Given the description of an element on the screen output the (x, y) to click on. 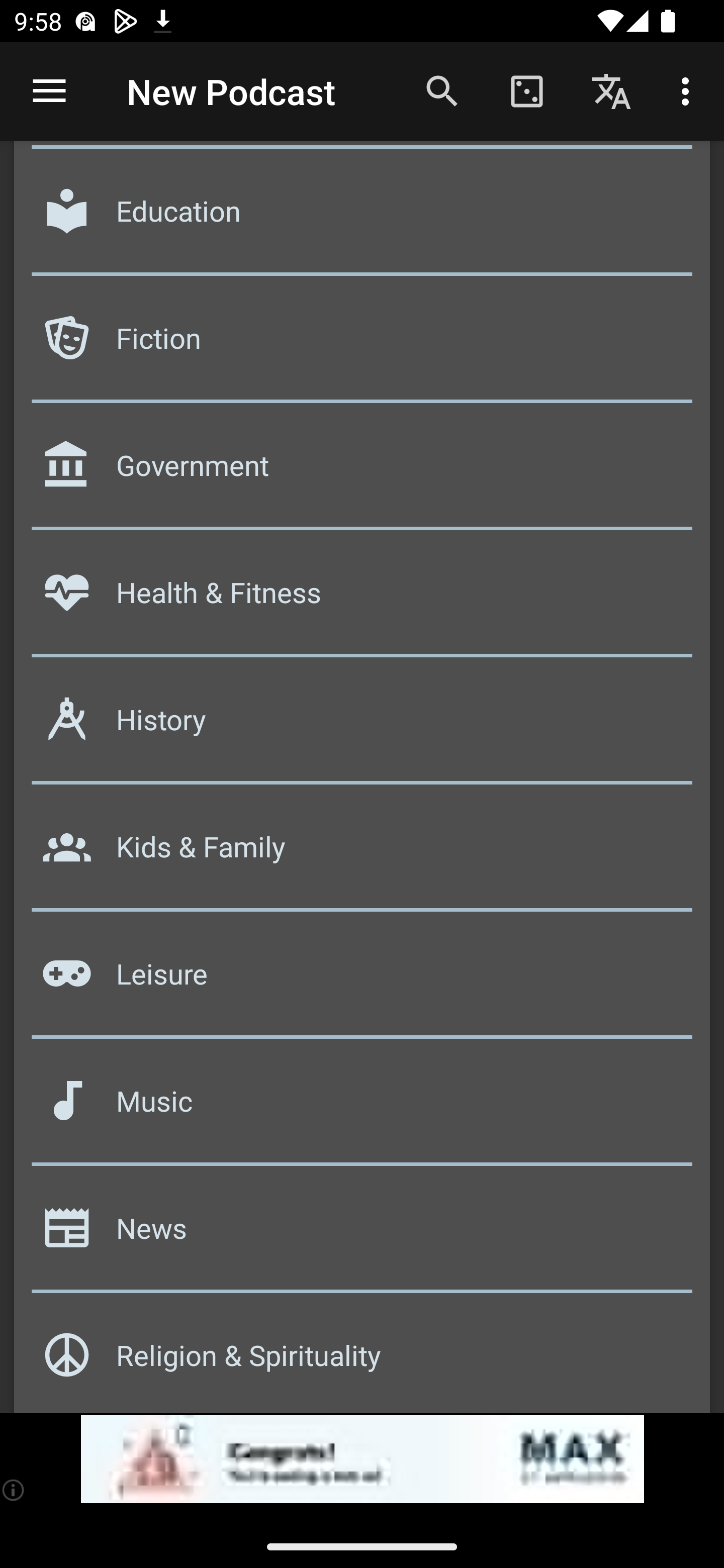
Open navigation sidebar (49, 91)
Search (442, 90)
Random pick (526, 90)
Podcast languages (611, 90)
More options (688, 90)
Education (361, 216)
Fiction (361, 344)
Government (361, 472)
Health & Fitness (361, 599)
History (361, 726)
Kids & Family (361, 853)
Leisure (361, 980)
Music (361, 1107)
News (361, 1234)
Religion & Spirituality (361, 1355)
app-monetization (362, 1459)
(i) (14, 1489)
